Given the description of an element on the screen output the (x, y) to click on. 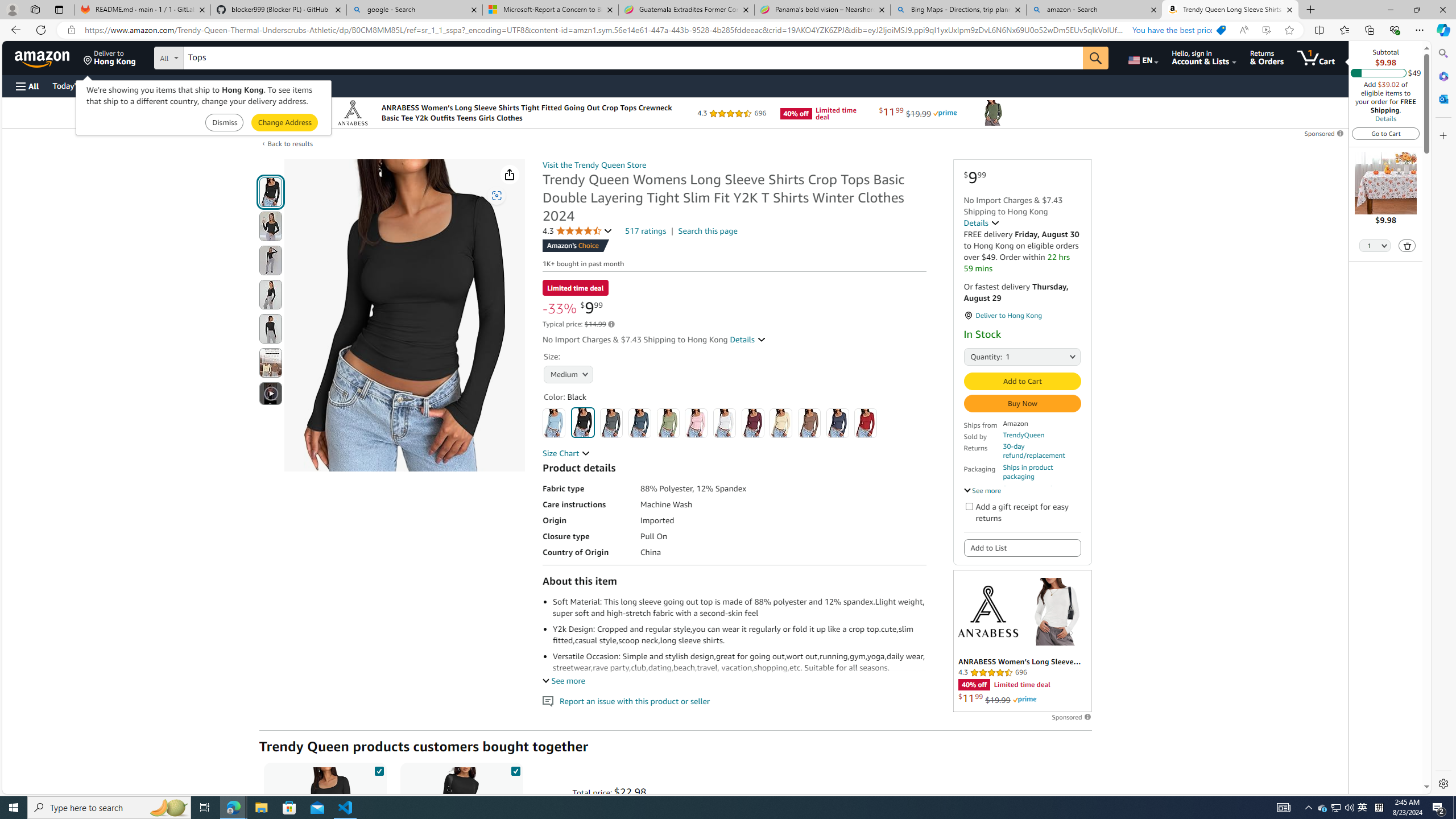
Wine Red (752, 422)
Today's Deals (76, 85)
Delete (1407, 245)
Gift Cards (251, 85)
Go to Cart (1385, 133)
Apricot (781, 422)
Light Green (667, 422)
Details  (981, 222)
Secure transaction (1032, 488)
